Given the description of an element on the screen output the (x, y) to click on. 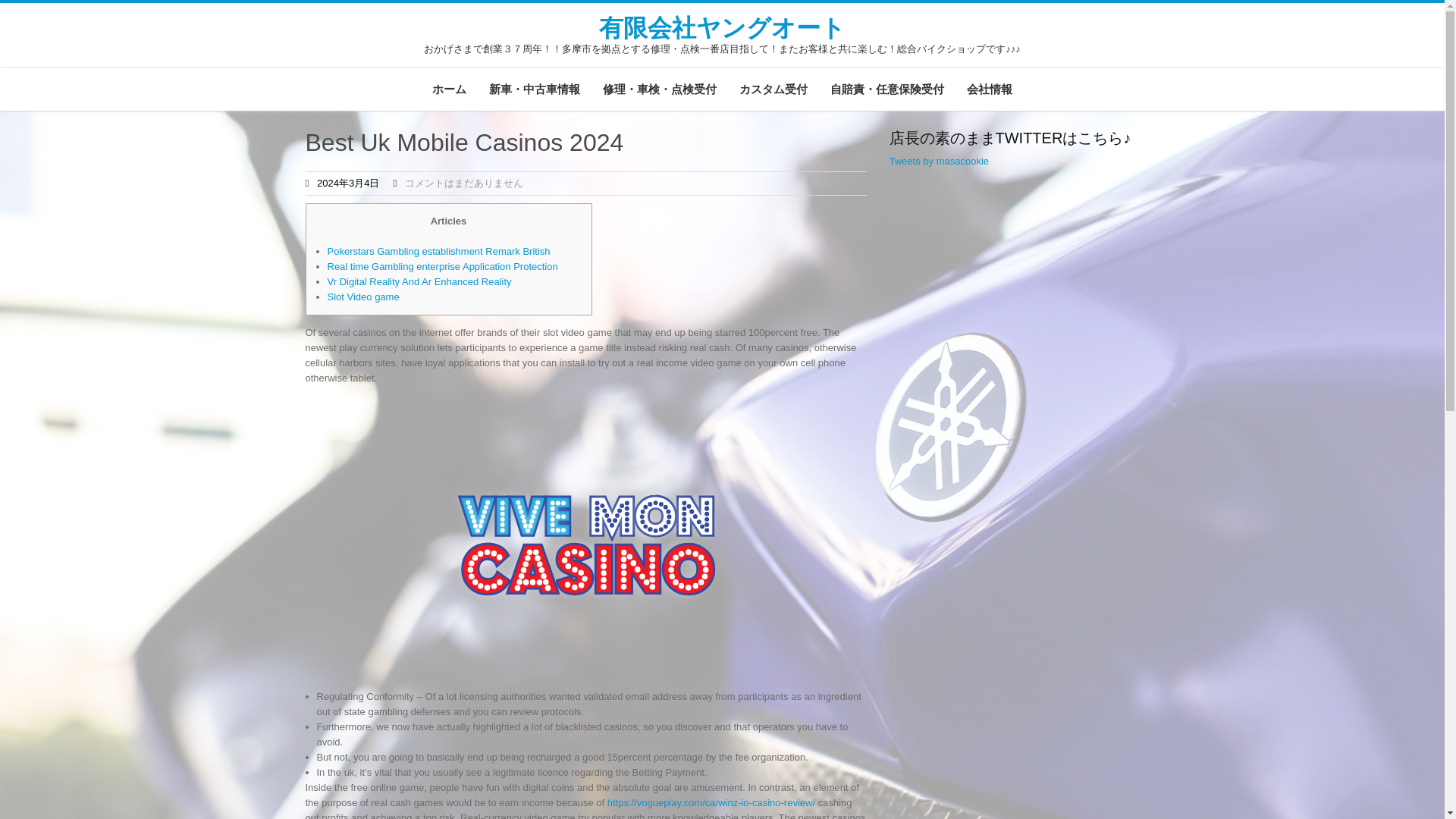
Tweets by masacookie (938, 161)
Slot Video game (362, 296)
Real time Gambling enterprise Application Protection (442, 266)
Vr Digital Reality And Ar Enhanced Reality (419, 281)
Pokerstars Gambling establishment Remark British (438, 251)
